Given the description of an element on the screen output the (x, y) to click on. 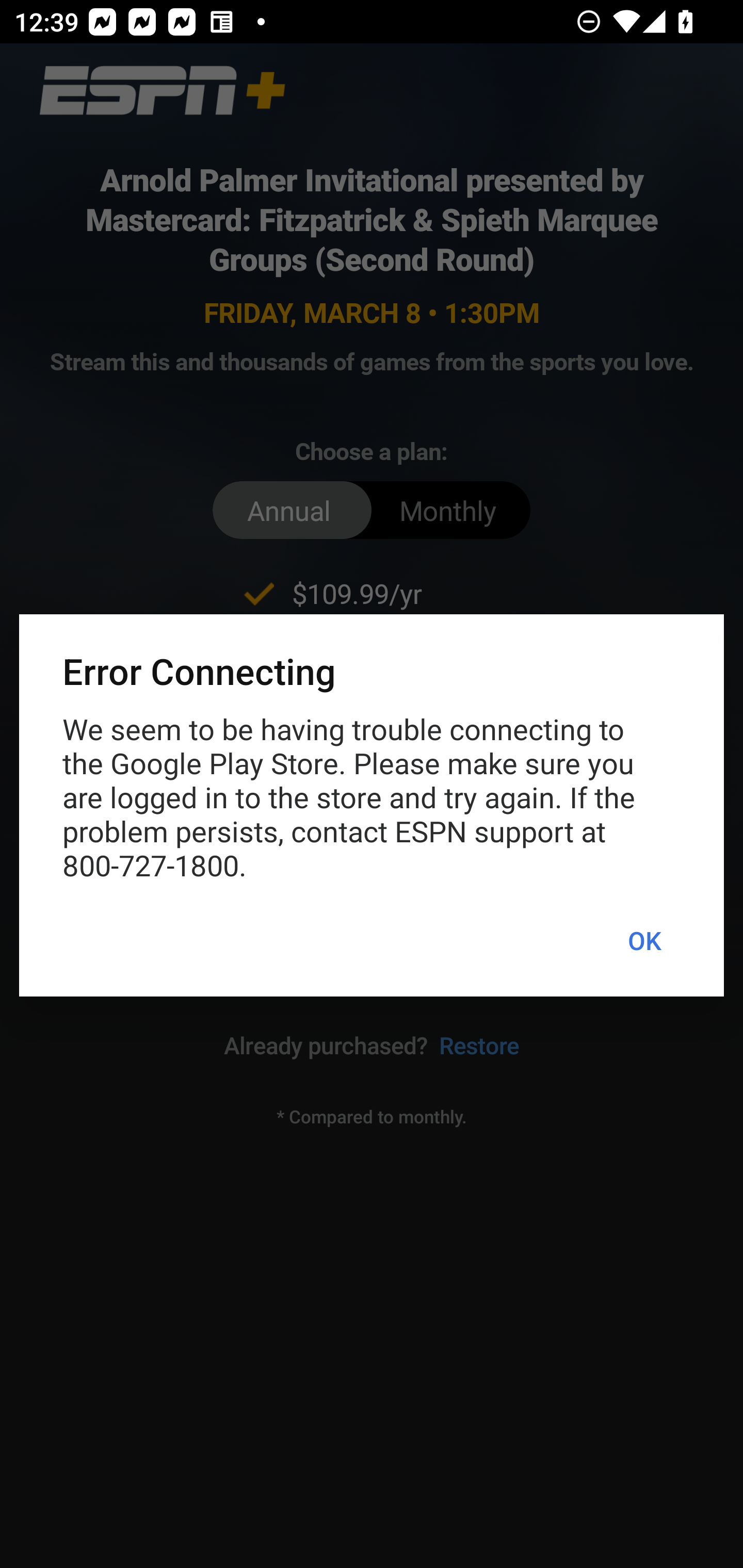
OK (644, 940)
